Given the description of an element on the screen output the (x, y) to click on. 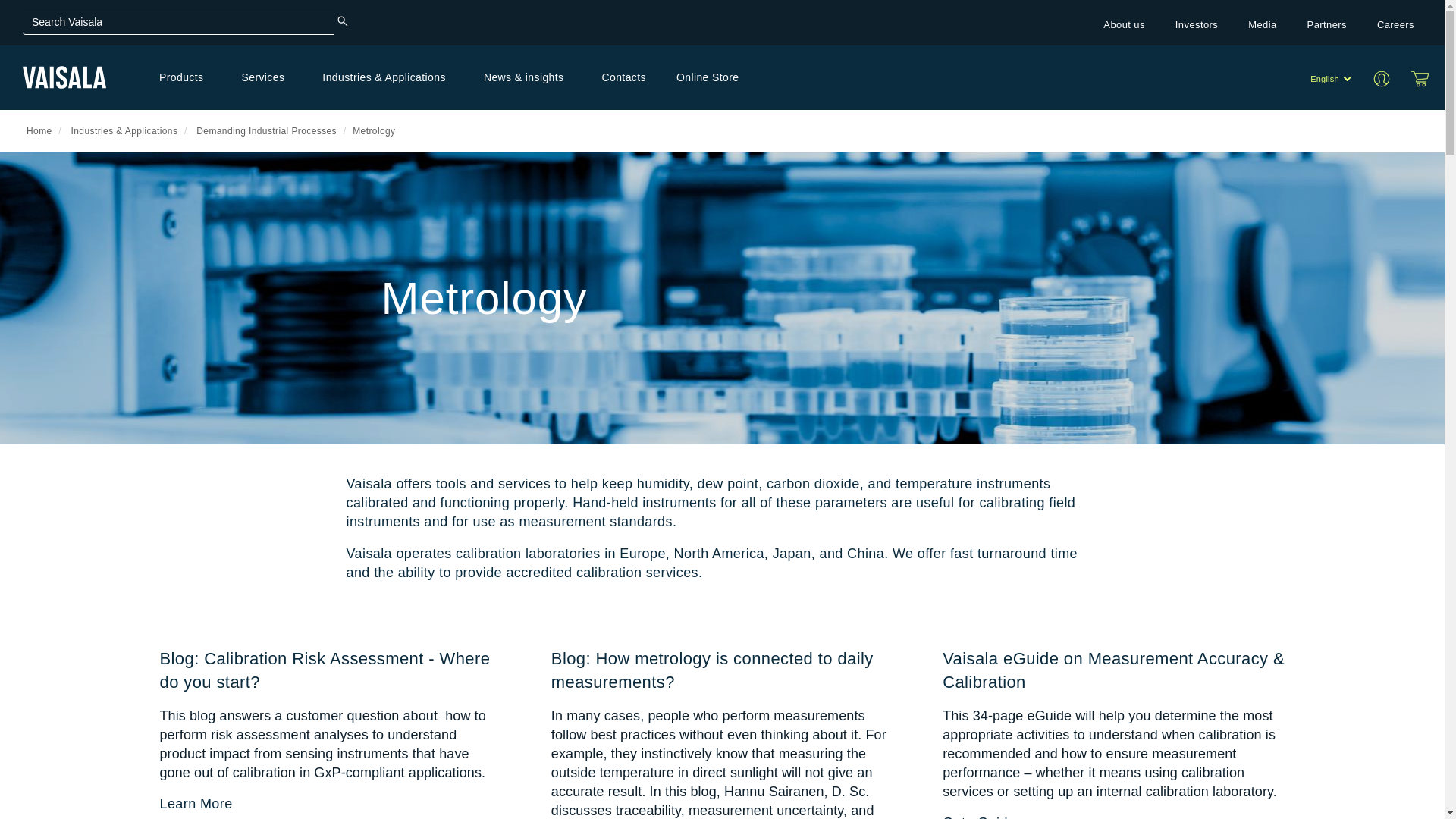
Online Store (1419, 78)
Home (64, 77)
Login to MyVaisala (1386, 77)
